Given the description of an element on the screen output the (x, y) to click on. 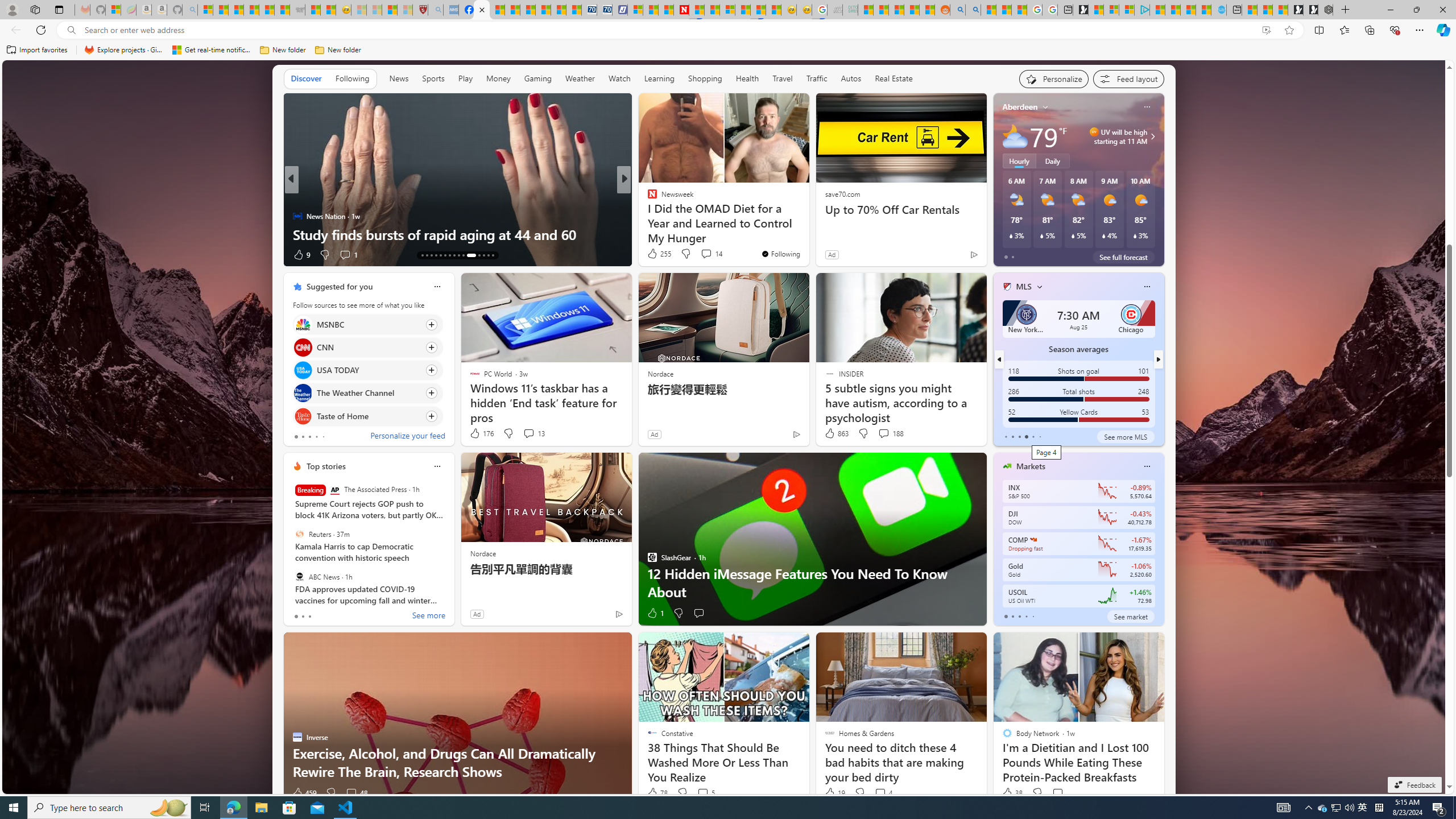
save70.com (842, 193)
AutomationID: tab-92 (492, 255)
MSNBC (302, 324)
The Weather Channel (302, 393)
Shopping (705, 79)
AutomationID: tab-78 (483, 255)
